Given the description of an element on the screen output the (x, y) to click on. 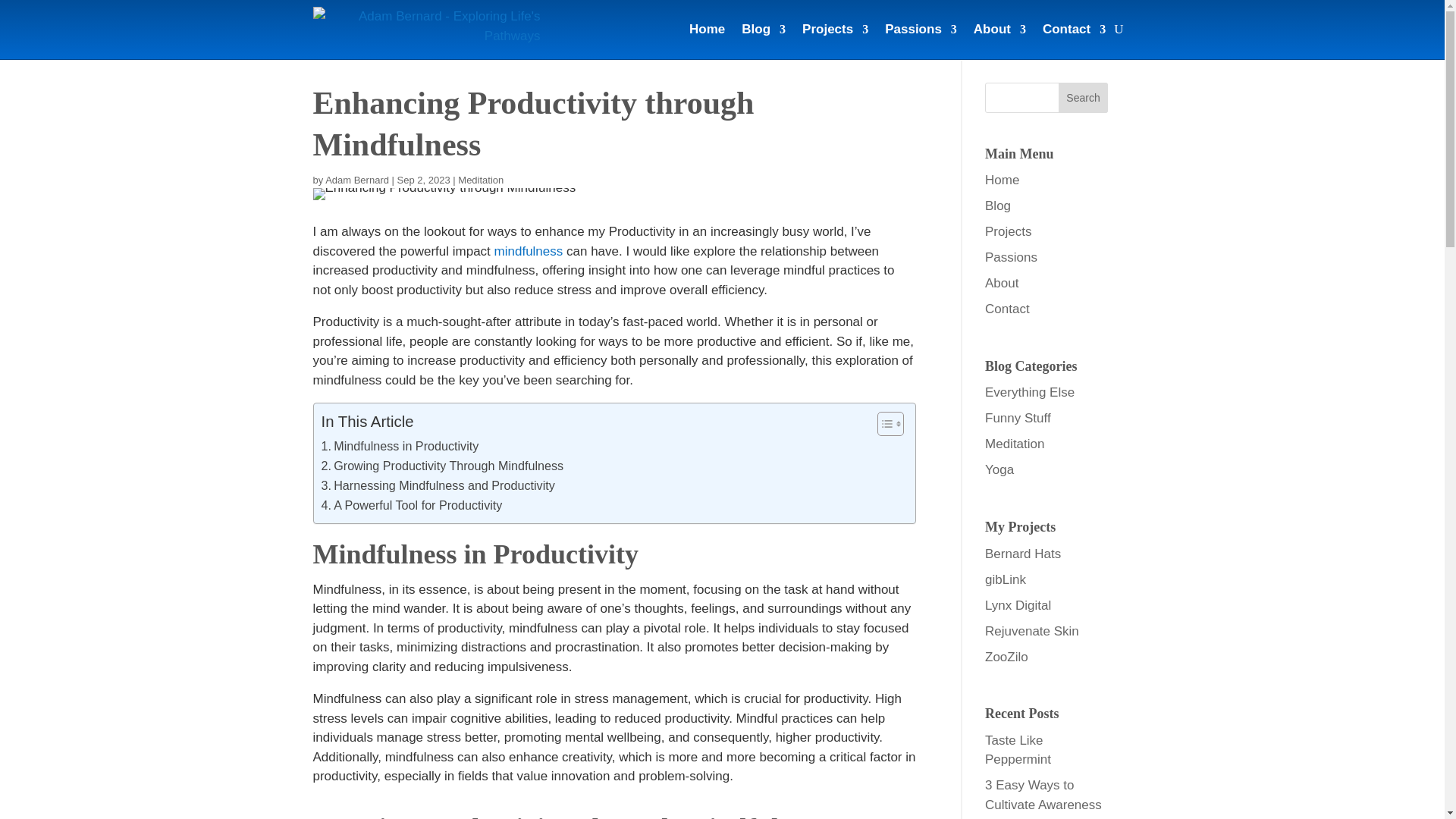
Posts by Adam Bernard (356, 179)
About (1000, 29)
Mindfulness in Productivity (400, 446)
Growing Productivity Through Mindfulness (442, 465)
Adam Bernard (356, 179)
Search (1083, 97)
Harnessing Mindfulness and Productivity (437, 485)
Home (706, 29)
Meditation (480, 179)
Enhancing Productivity through Mindfulness (444, 193)
Contact (1073, 29)
Projects (834, 29)
A Powerful Tool for Productivity (411, 505)
mindfulness (529, 251)
Passions (920, 29)
